Given the description of an element on the screen output the (x, y) to click on. 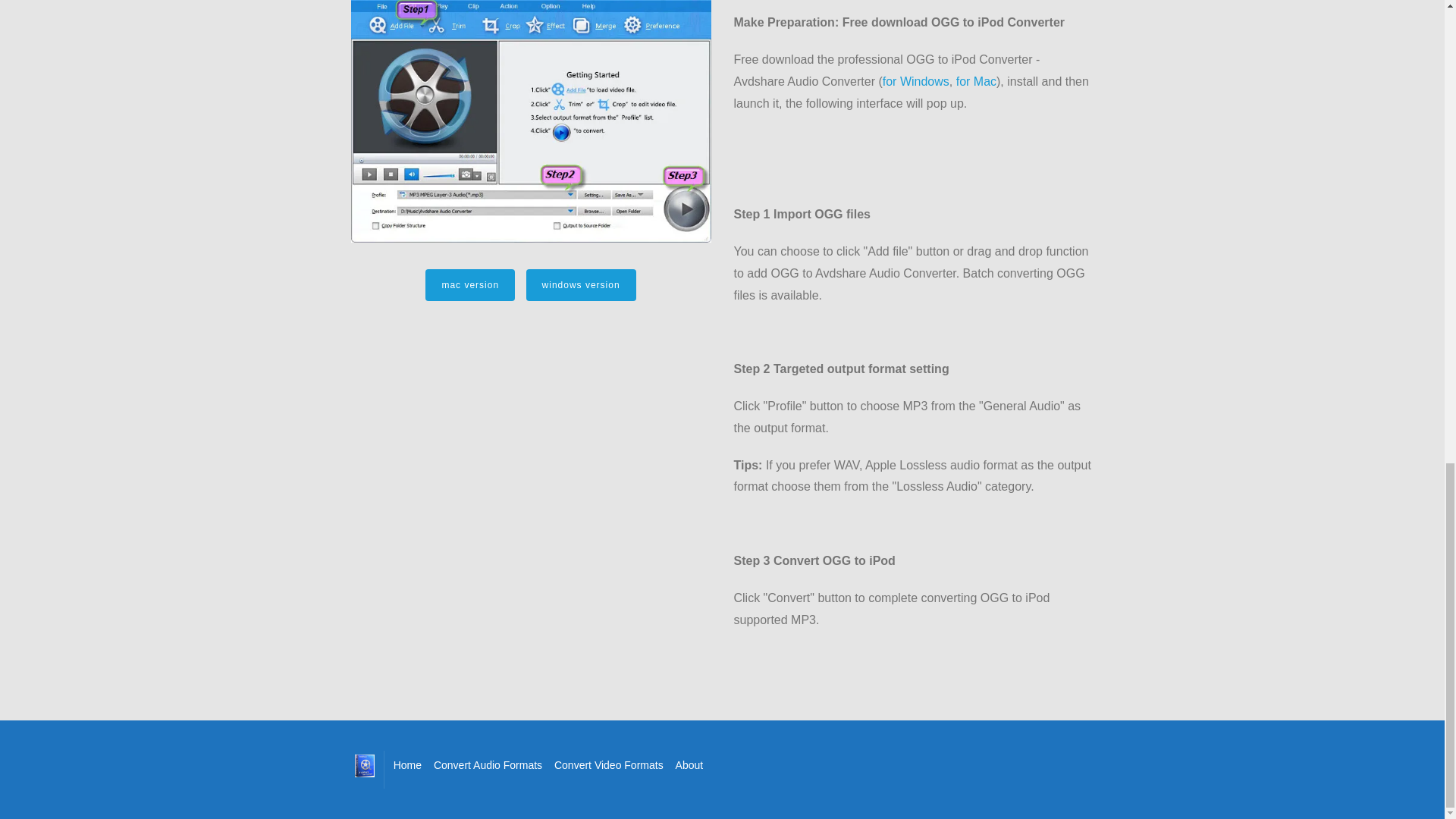
About (689, 764)
for Windows (915, 81)
windows version (580, 285)
Convert Audio Formats (487, 764)
Convert Video Formats (608, 764)
mac version (470, 285)
Home (407, 764)
for Mac (975, 81)
